Given the description of an element on the screen output the (x, y) to click on. 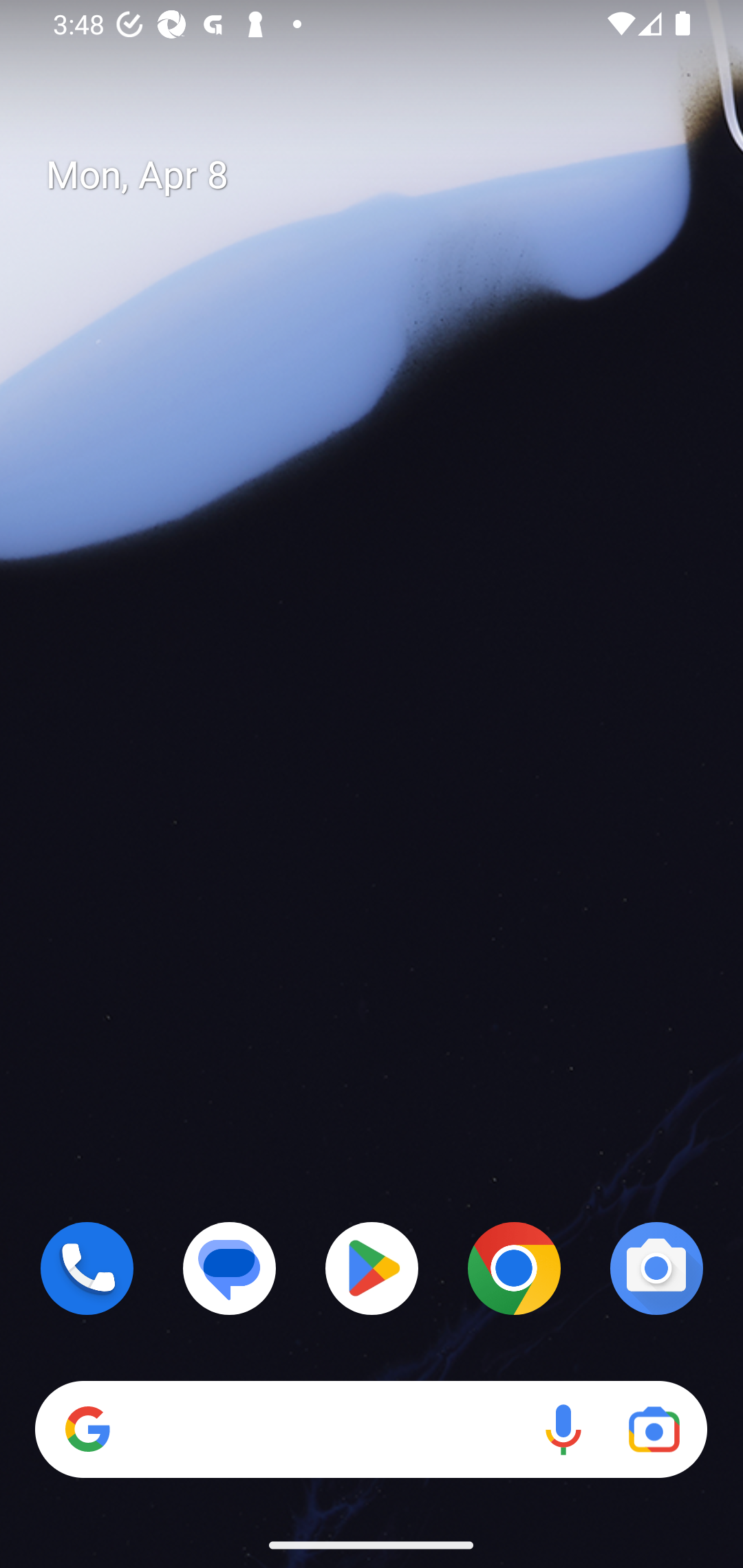
Mon, Apr 8 (386, 175)
Phone (86, 1268)
Messages (229, 1268)
Play Store (371, 1268)
Chrome (513, 1268)
Camera (656, 1268)
Search Voice search Google Lens (370, 1429)
Voice search (562, 1429)
Google Lens (653, 1429)
